Given the description of an element on the screen output the (x, y) to click on. 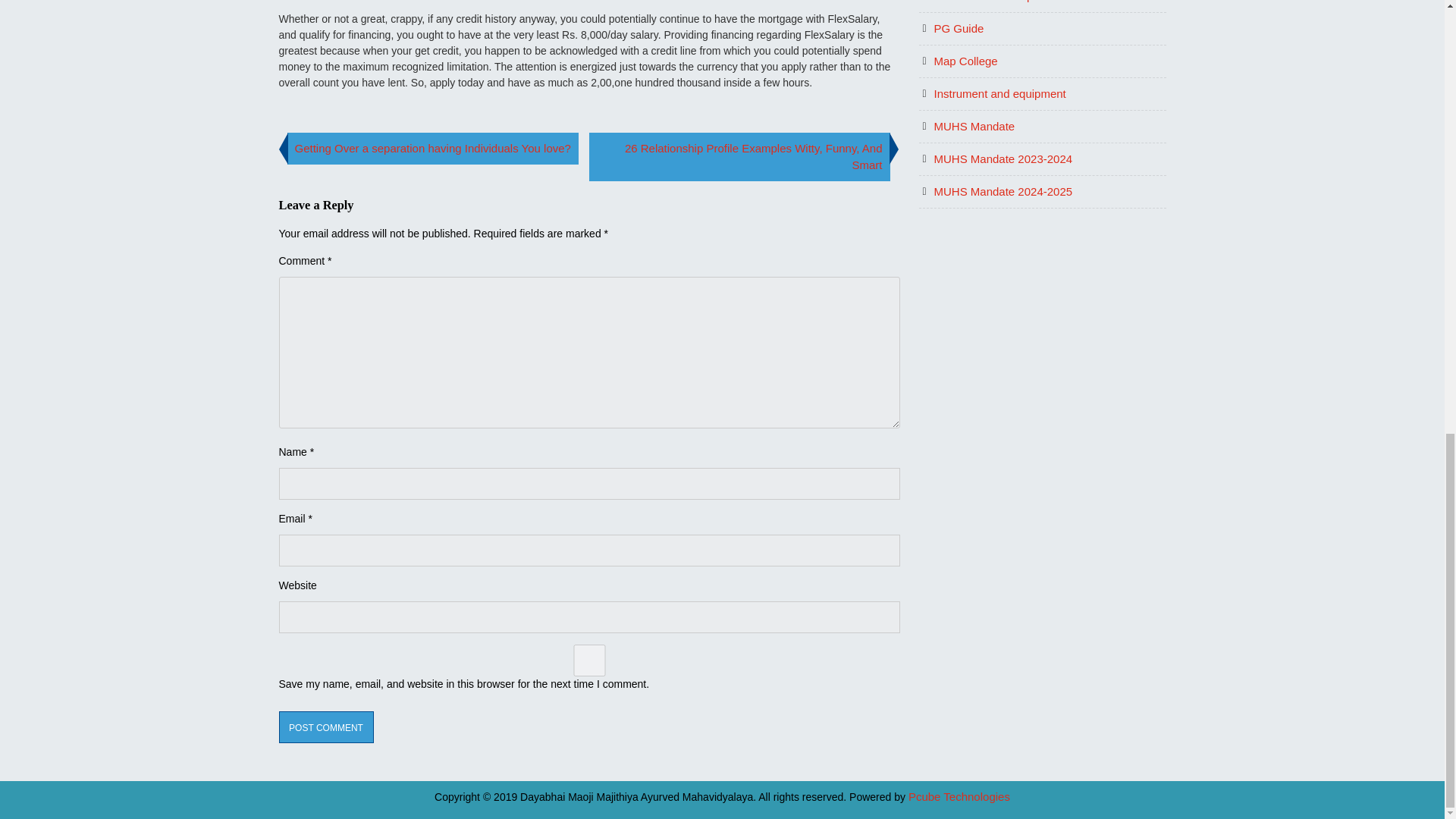
yes (589, 660)
Post Comment (326, 726)
